Given the description of an element on the screen output the (x, y) to click on. 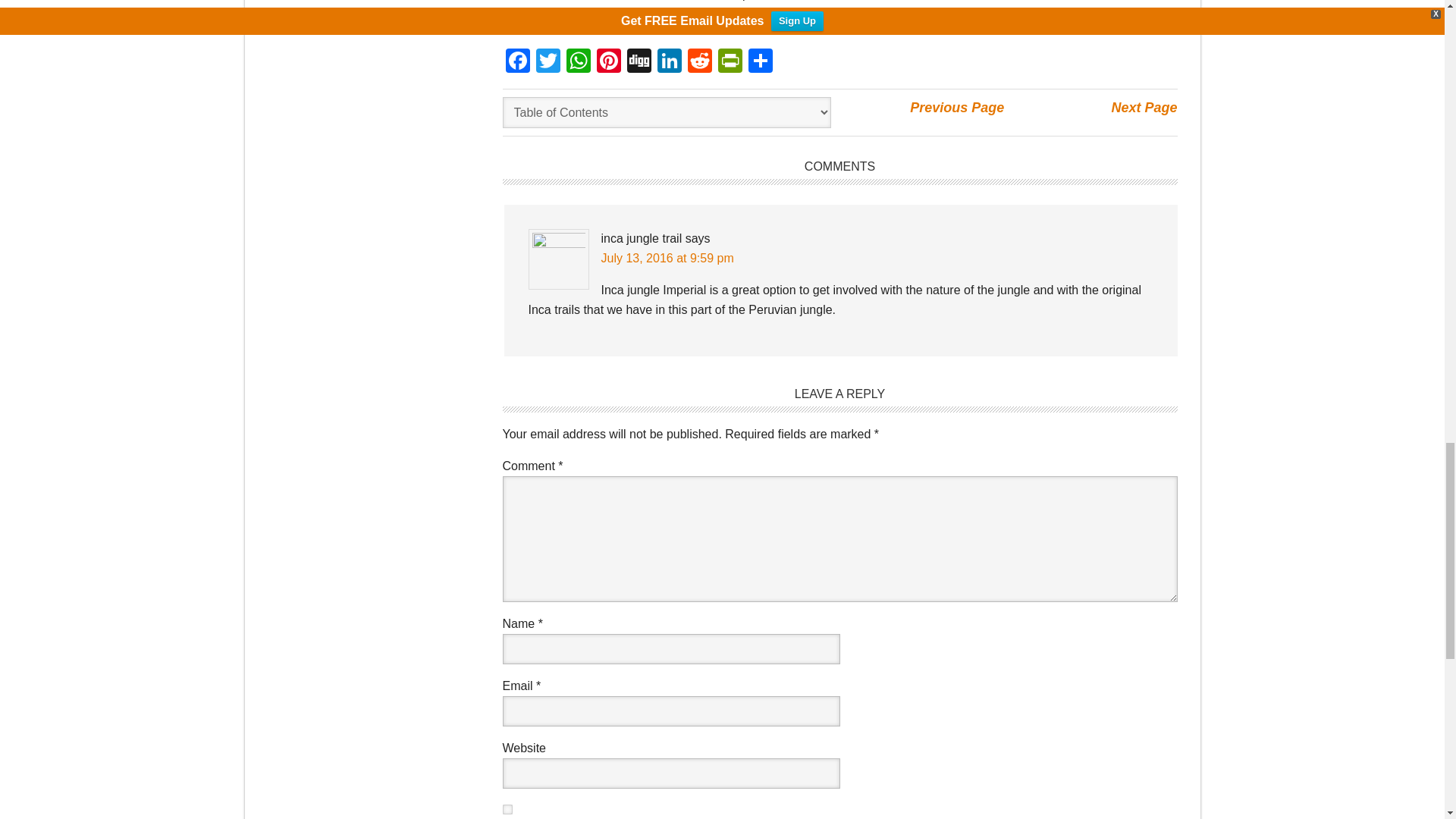
PrintFriendly (729, 62)
yes (507, 809)
Twitter (547, 62)
Pinterest (607, 62)
July 13, 2016 at 9:59 pm (666, 257)
Share (759, 62)
Reddit (699, 62)
Previous Page (957, 107)
WhatsApp (577, 62)
Twitter (547, 62)
Reddit (699, 62)
LinkedIn (668, 62)
Facebook (517, 62)
PrintFriendly (729, 62)
WhatsApp (577, 62)
